Given the description of an element on the screen output the (x, y) to click on. 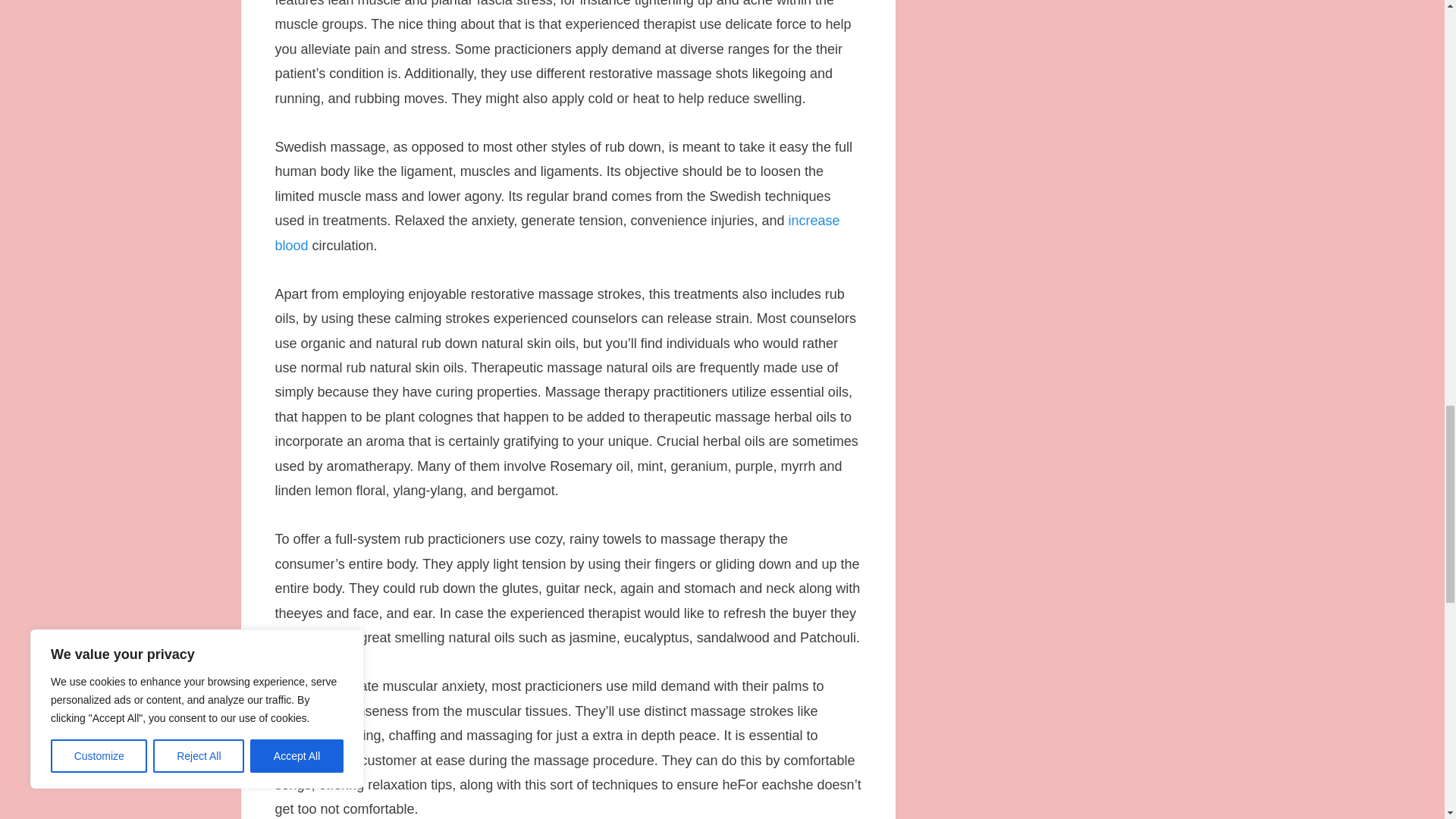
increase blood (557, 232)
